Given the description of an element on the screen output the (x, y) to click on. 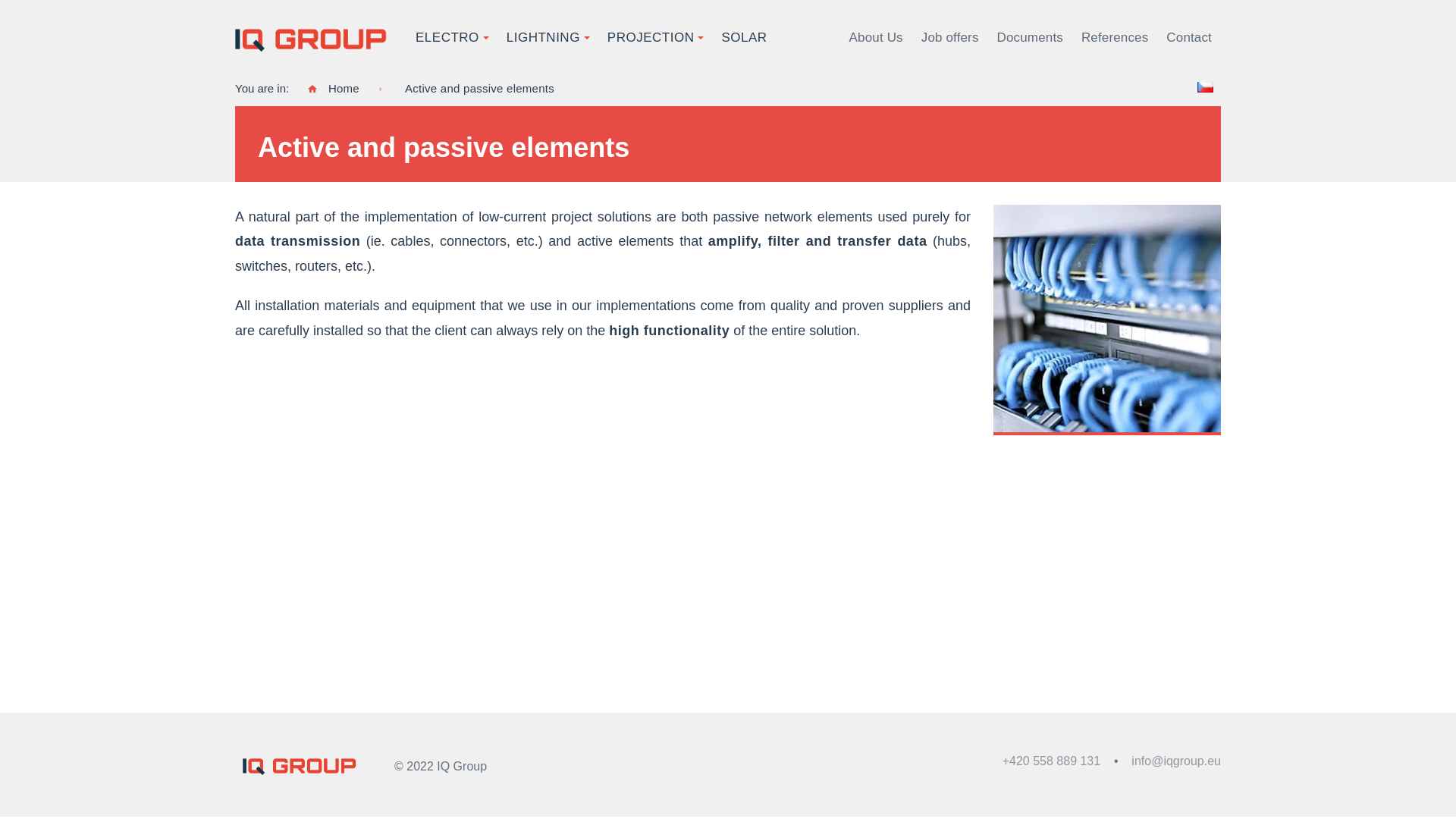
SOLAR (743, 38)
Documents (1029, 38)
PROJECTION (650, 38)
References (1114, 38)
LIGHTNING (543, 38)
Job offers (950, 38)
ELECTRO (447, 38)
About Us (876, 38)
Active and passive elements (479, 88)
Home (333, 88)
